Given the description of an element on the screen output the (x, y) to click on. 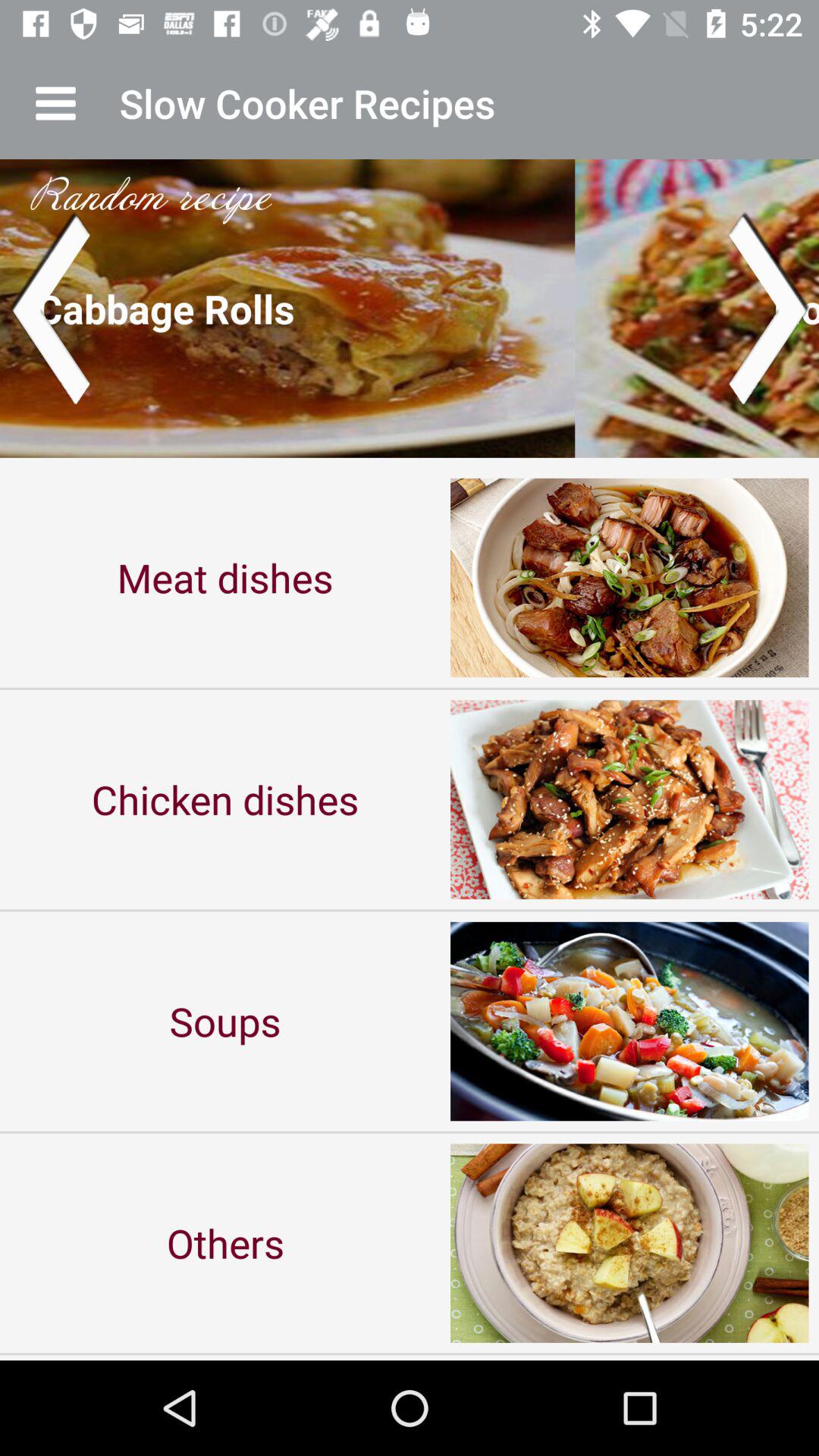
turn off the chicken dishes icon (225, 798)
